Given the description of an element on the screen output the (x, y) to click on. 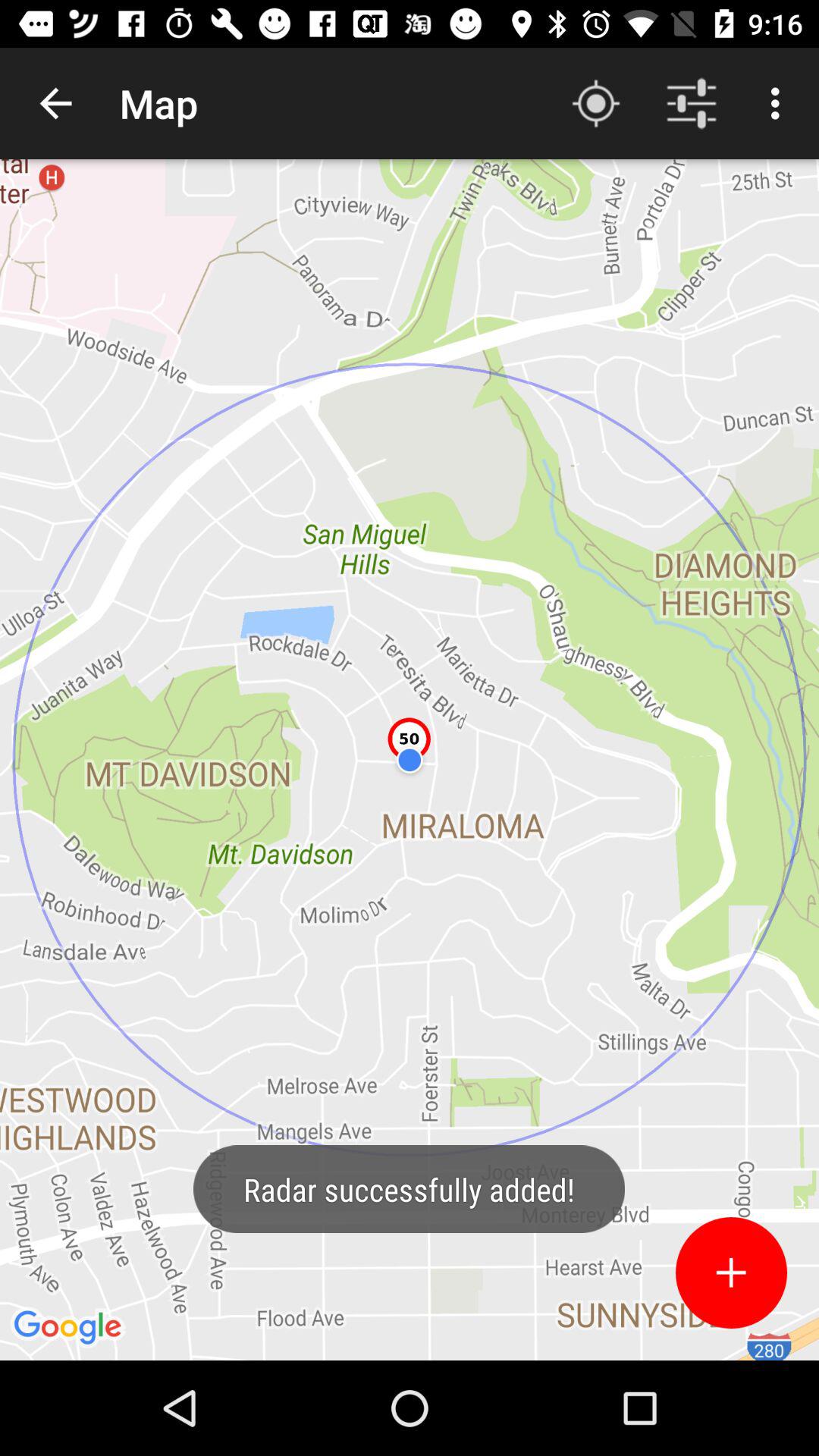
turn on the item next to the map (55, 103)
